Given the description of an element on the screen output the (x, y) to click on. 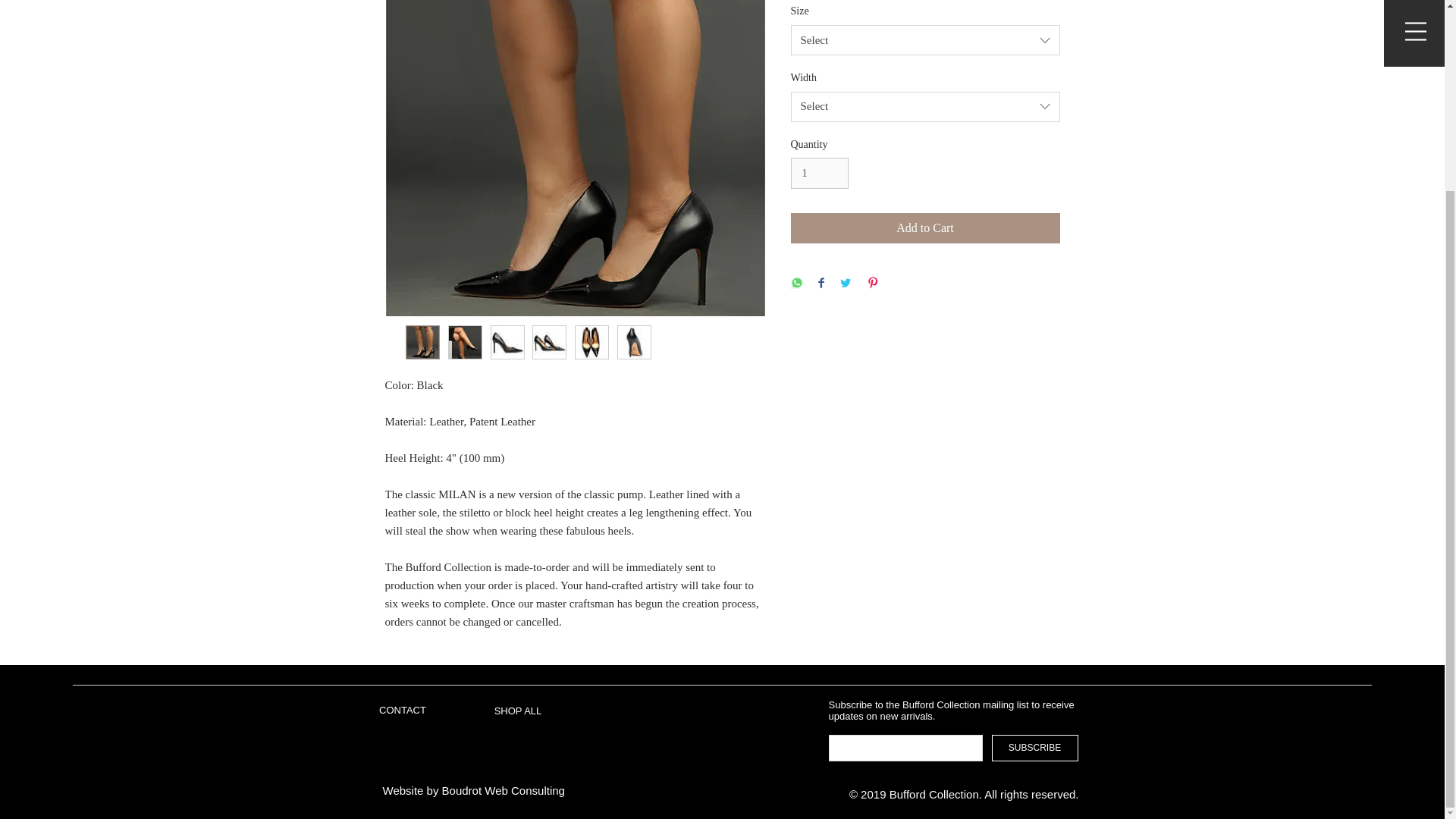
SUBSCRIBE (1034, 747)
Select (924, 40)
Select (924, 106)
Subscribe to the Bufford Collection  (905, 704)
CONTACT (402, 709)
SHOP ALL (518, 710)
Add to Cart (924, 227)
1 (818, 173)
Website by Boudrot Web Consulting (472, 789)
